Given the description of an element on the screen output the (x, y) to click on. 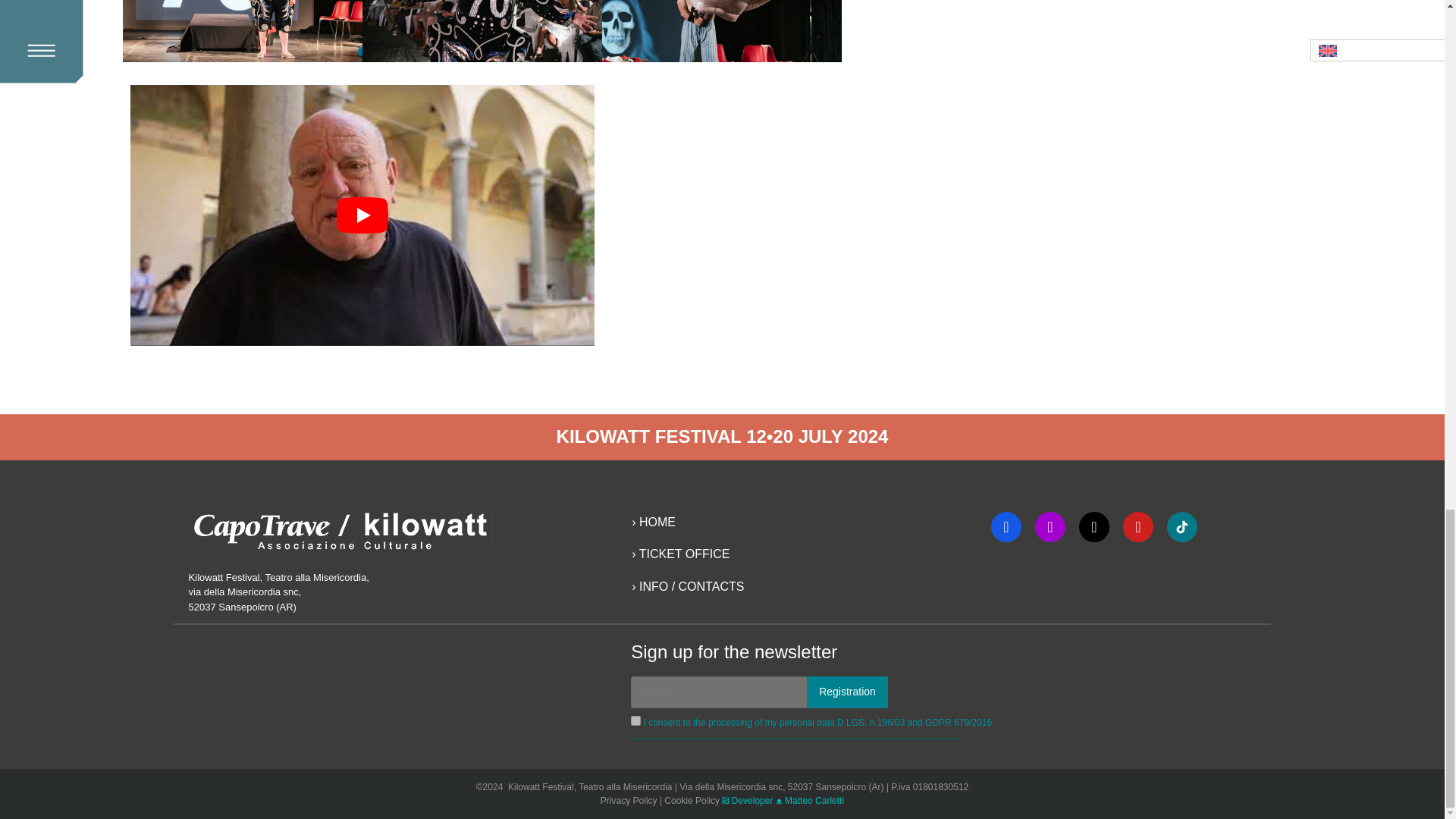
1 (635, 720)
Registration (847, 692)
